Given the description of an element on the screen output the (x, y) to click on. 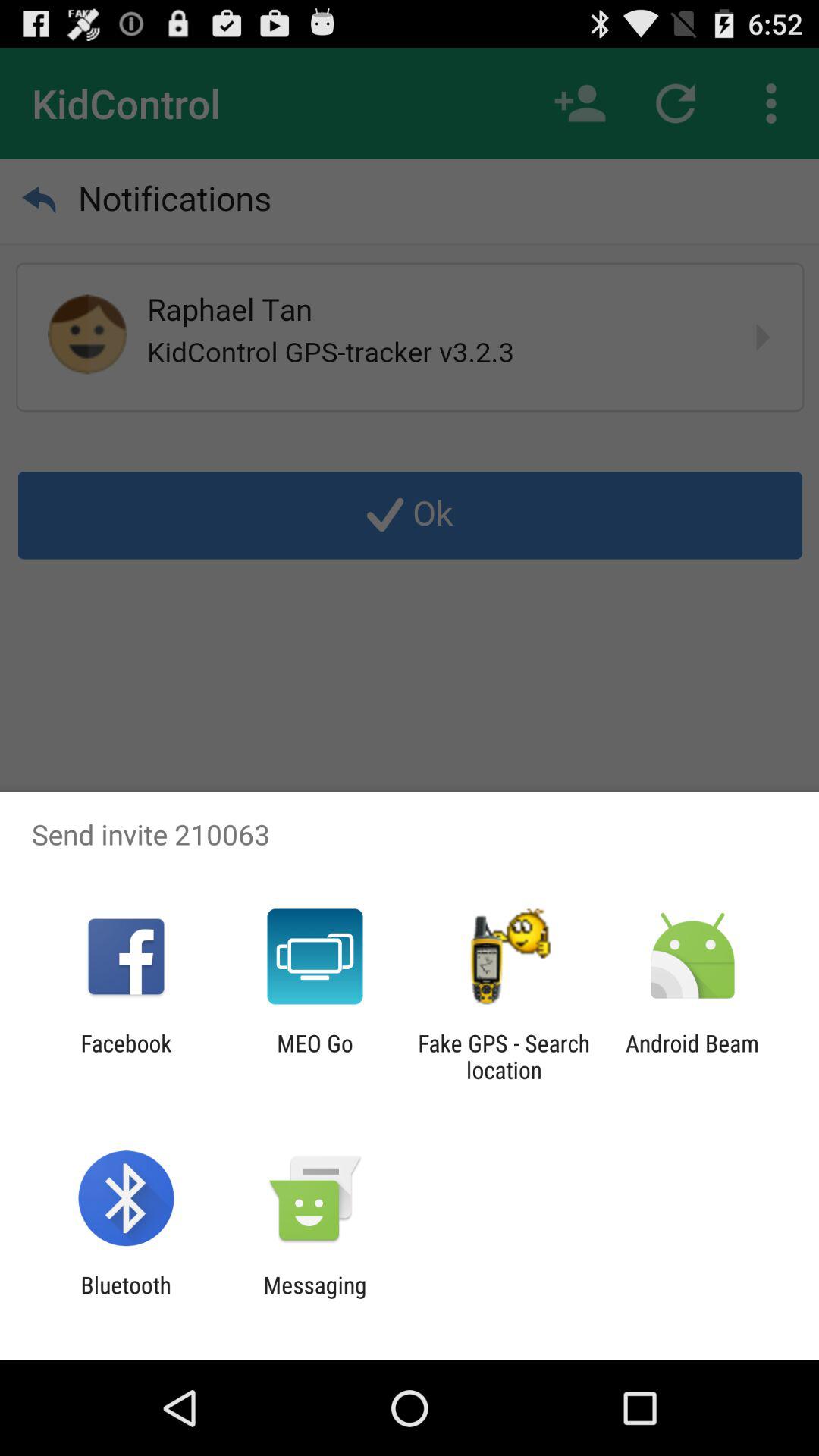
open item to the right of bluetooth (314, 1298)
